Given the description of an element on the screen output the (x, y) to click on. 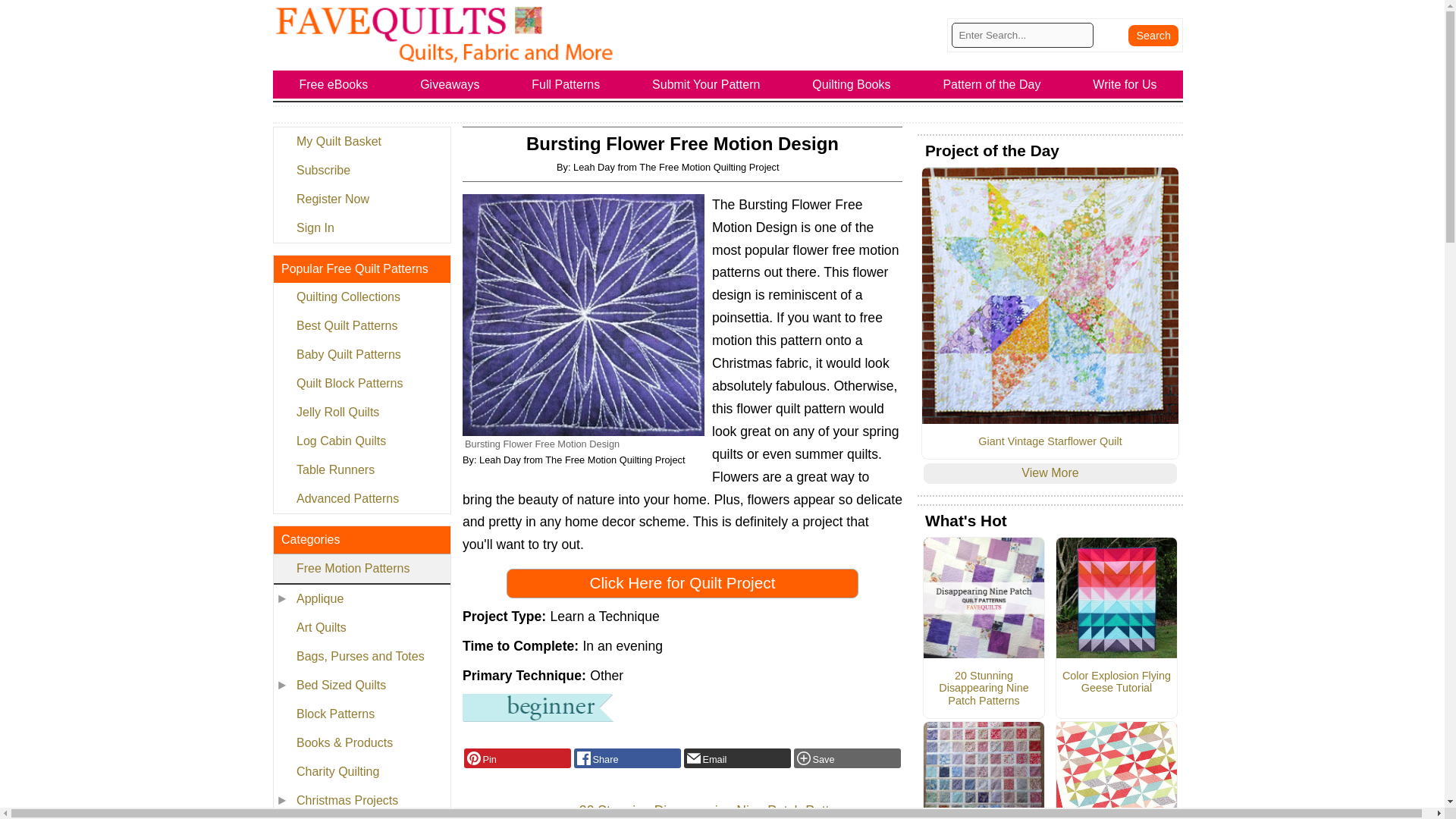
Register Now (361, 199)
Email (737, 758)
My Quilt Basket (361, 141)
Bursting Flower Free Motion Design (583, 314)
Search (1152, 35)
Facebook (627, 758)
Add (847, 758)
Sign In (361, 227)
Subscribe (361, 170)
